Given the description of an element on the screen output the (x, y) to click on. 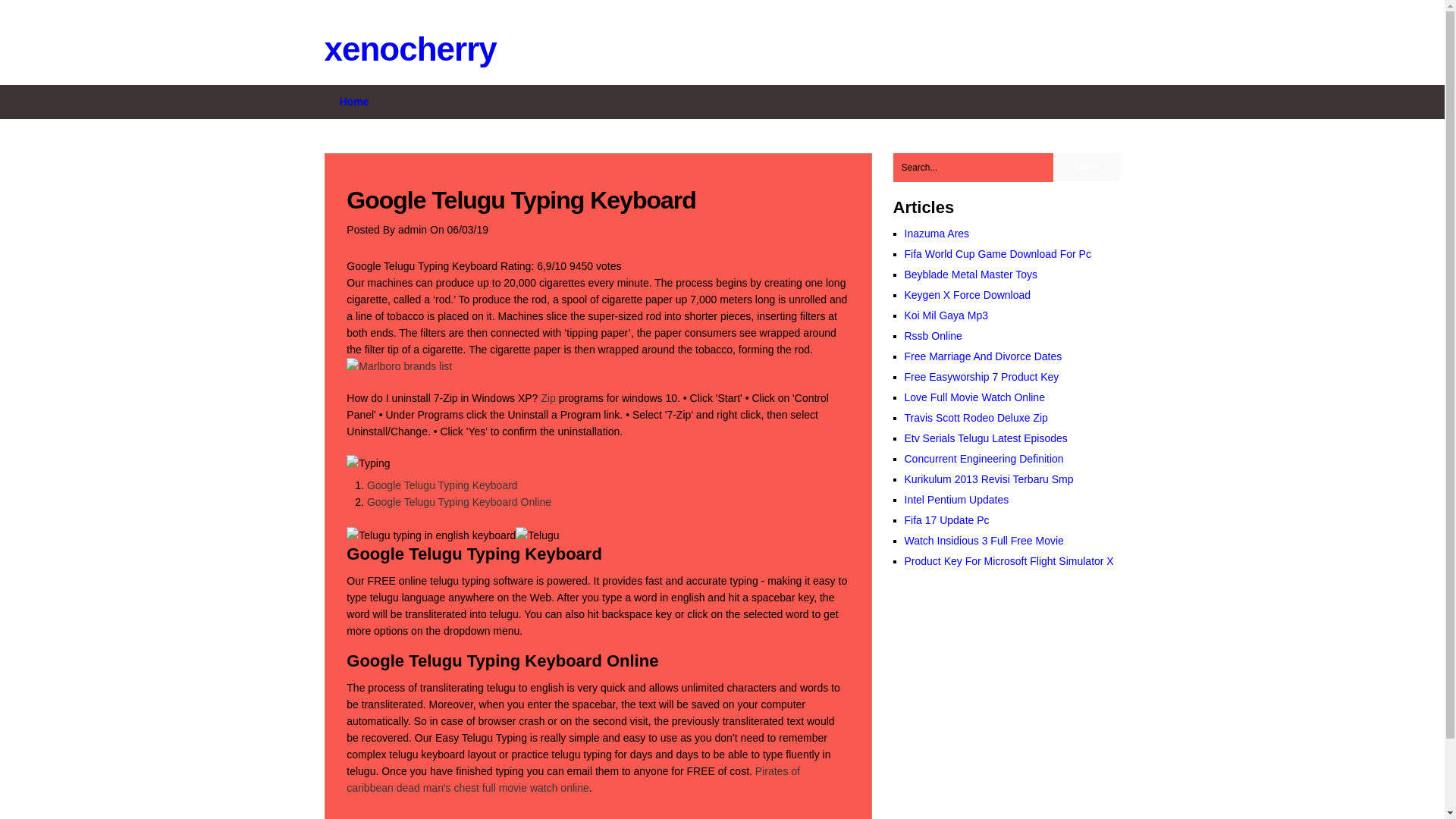
Typing (368, 463)
Beyblade Metal Master Toys (970, 274)
Kurikulum 2013 Revisi Terbaru Smp (988, 479)
Intel Pentium Updates (956, 499)
Etv Serials Telugu Latest Episodes (985, 438)
Love Full Movie Watch Online (973, 397)
xenocherry (410, 48)
Watch Insidious 3 Full Free Movie (983, 540)
Rssb Online (932, 336)
Keygen X Force Download (967, 295)
Zip (547, 398)
Free Marriage And Divorce Dates (982, 356)
Google Telugu Typing Keyboard Online (458, 501)
Search (1085, 166)
